Given the description of an element on the screen output the (x, y) to click on. 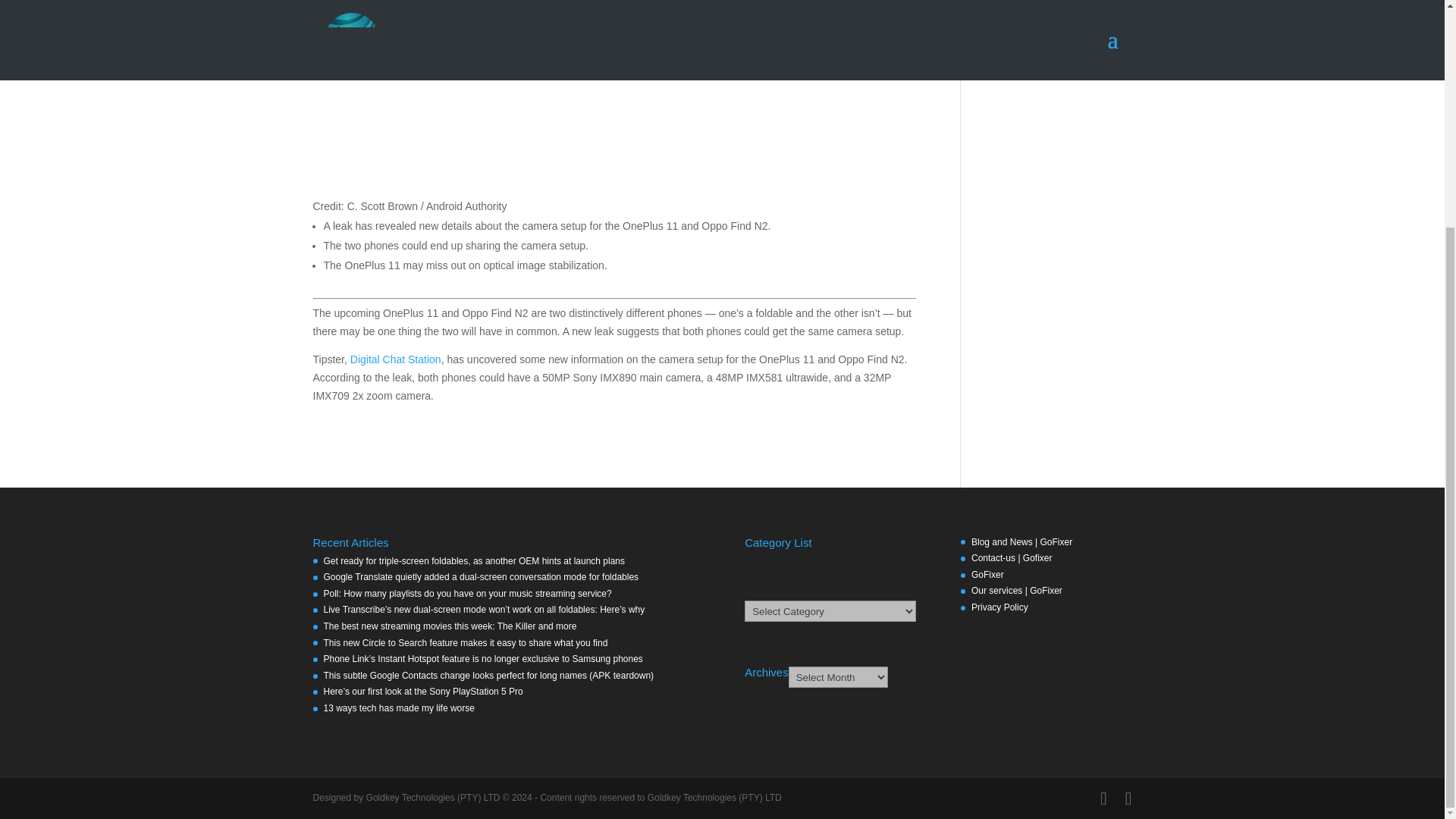
OnePlus Logo on OnePlus 9 Pro (614, 93)
Privacy Policy (999, 606)
Digital Chat Station (395, 358)
The best new streaming movies this week: The Killer and more (449, 625)
13 ways tech has made my life worse (398, 707)
GoFixer (987, 574)
